Given the description of an element on the screen output the (x, y) to click on. 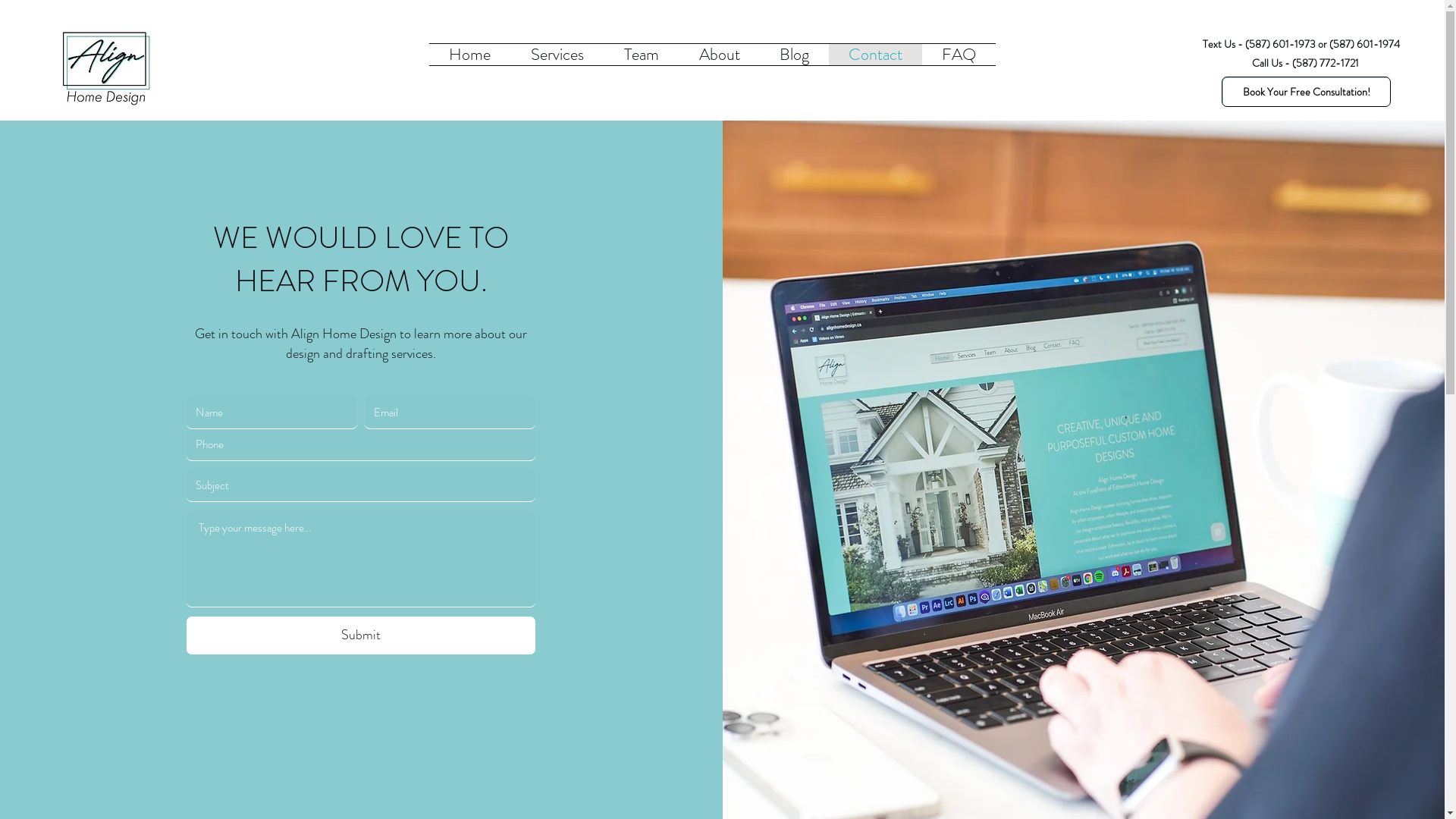
Book Your Free Consultation! Element type: text (1305, 91)
Contact Element type: text (874, 54)
Team Element type: text (640, 54)
Submit Element type: text (360, 635)
Home Element type: text (470, 54)
FAQ Element type: text (958, 54)
About Element type: text (719, 54)
Blog Element type: text (793, 54)
Services Element type: text (557, 54)
